Given the description of an element on the screen output the (x, y) to click on. 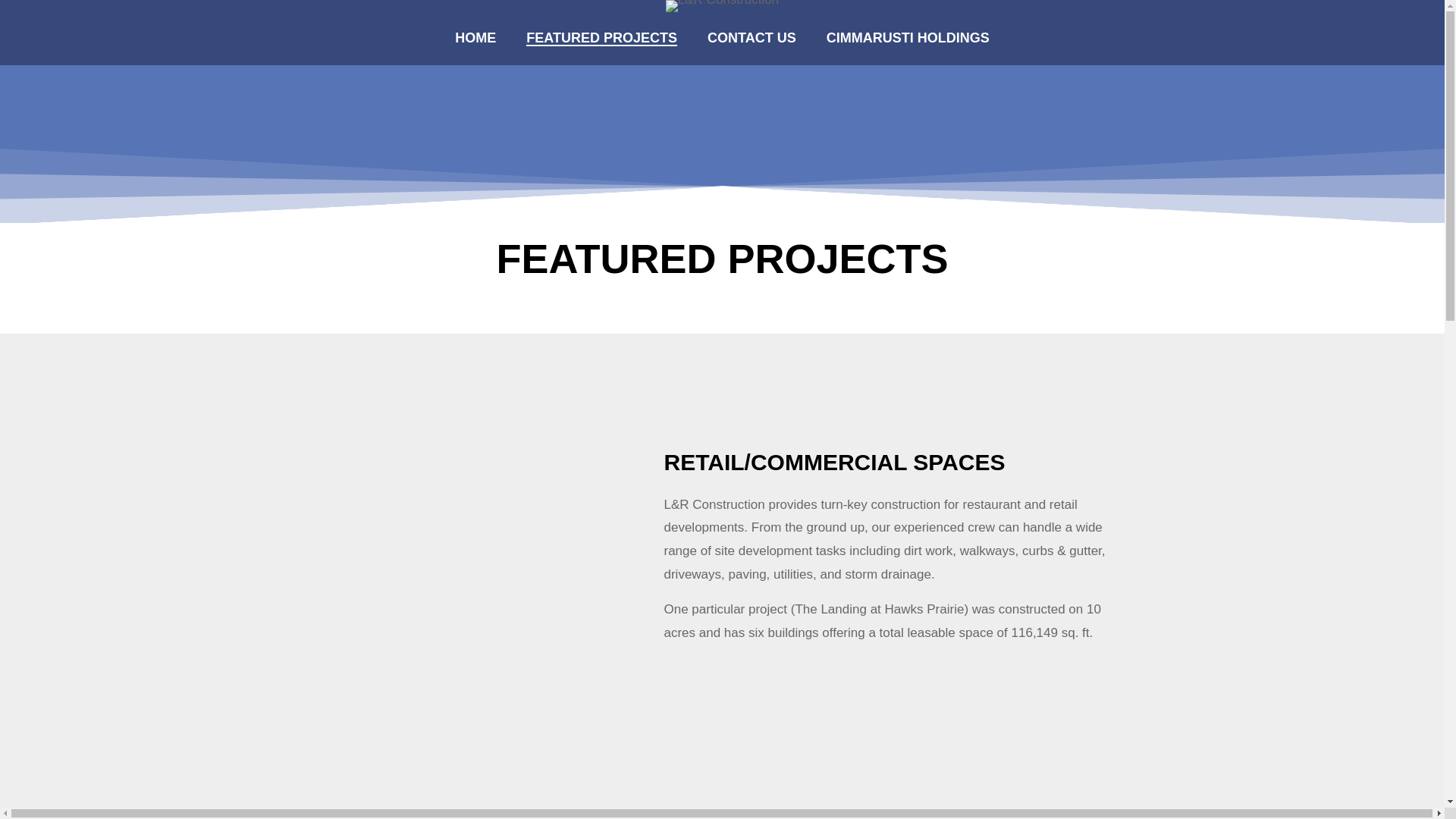
The Landing at Hawks Prairie2 (448, 801)
Northridge Center (960, 801)
HOME (475, 38)
LAF (704, 762)
CONTACT US (751, 38)
FEATURED PROJECTS (601, 38)
Manchester Center (704, 801)
CIMMARUSTI HOLDINGS (908, 38)
